Given the description of an element on the screen output the (x, y) to click on. 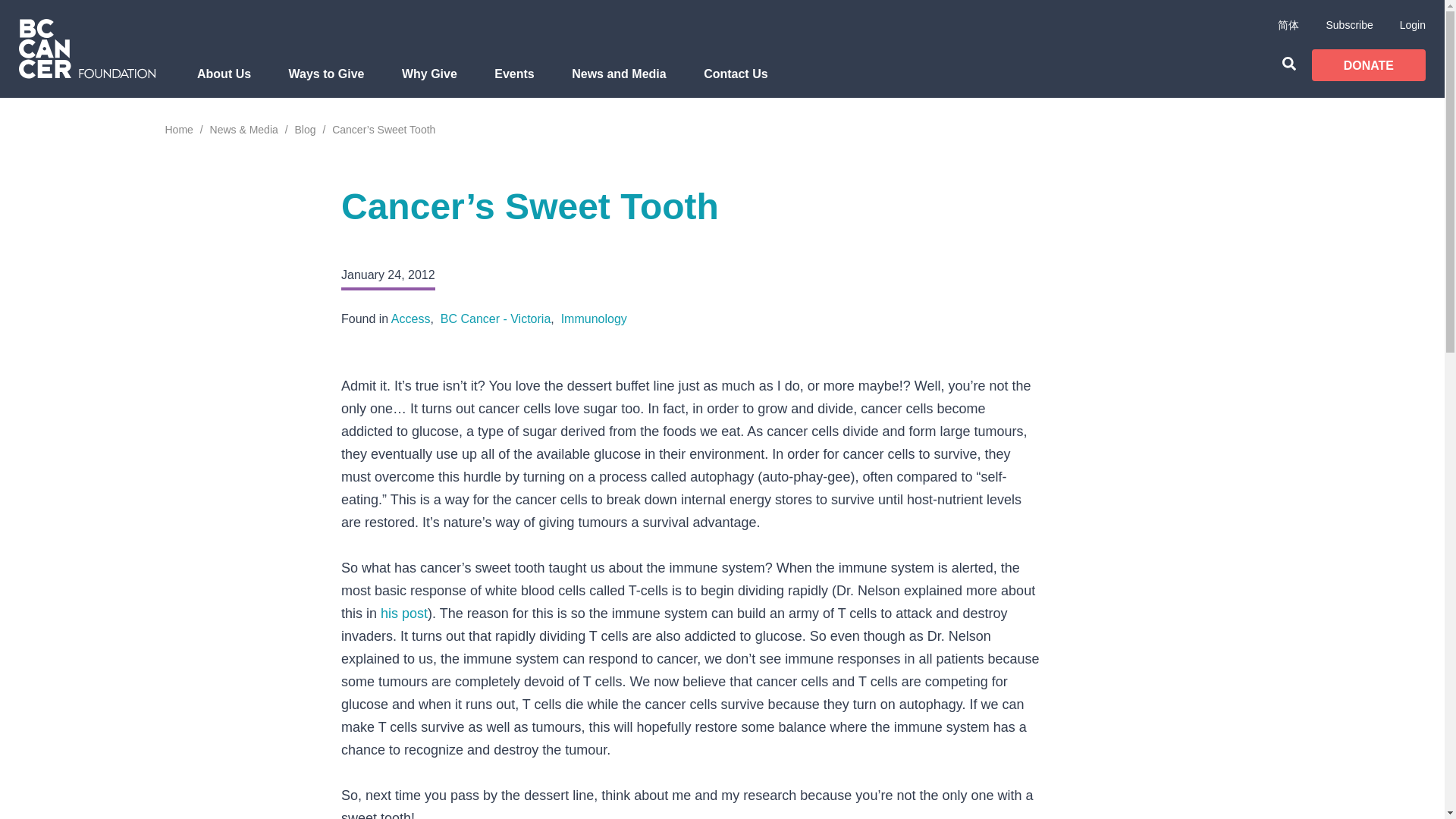
Home (179, 129)
Login (1412, 24)
News and Media (618, 82)
Why Give (429, 82)
Ways to Give (326, 82)
Events (513, 82)
Subscribe (1348, 24)
Blog (304, 129)
About Us (223, 82)
